Given the description of an element on the screen output the (x, y) to click on. 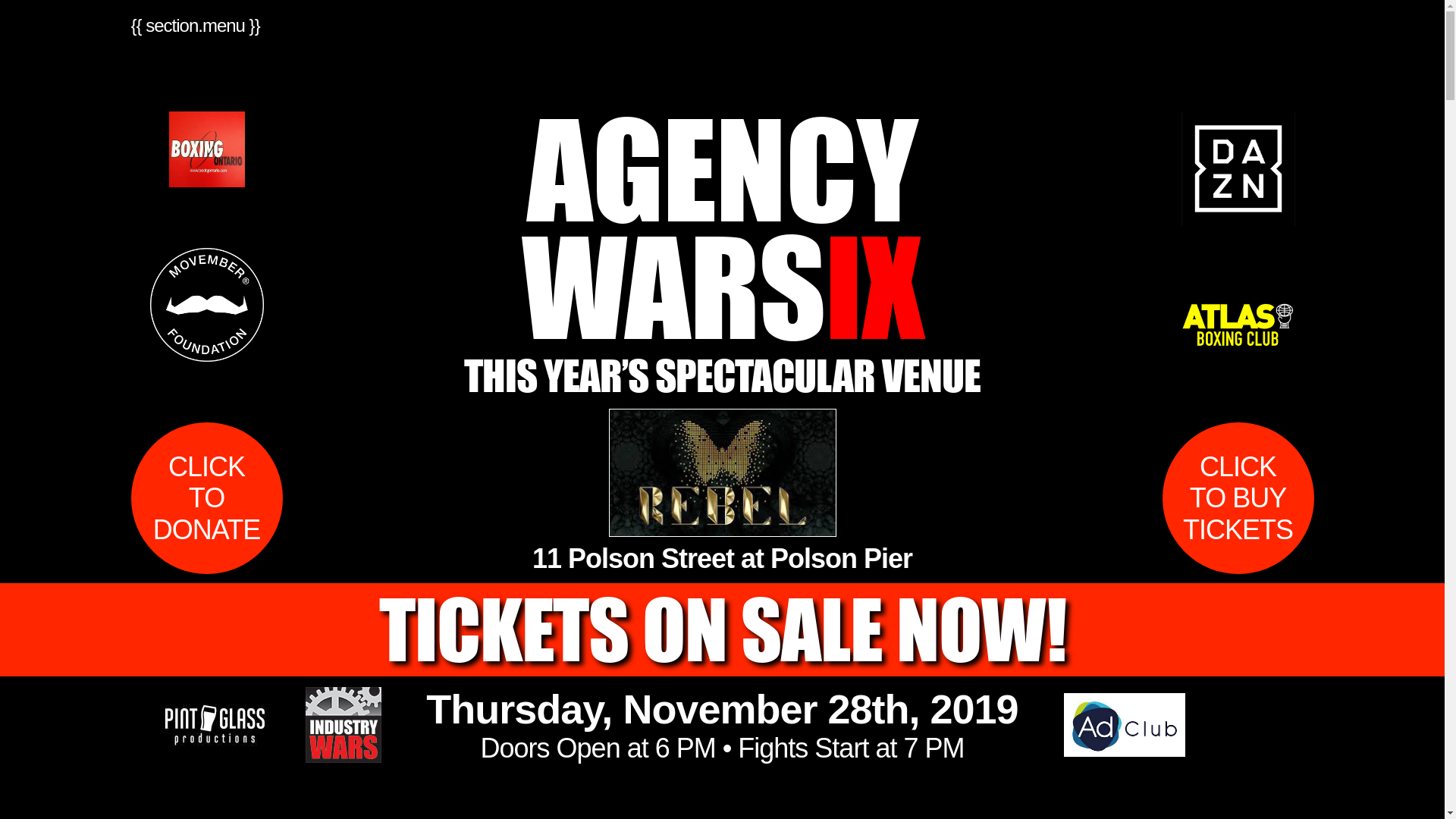
CLICK TO DONATE Element type: text (206, 498)
CLICK TO BUY TICKETS Element type: text (1237, 498)
